Given the description of an element on the screen output the (x, y) to click on. 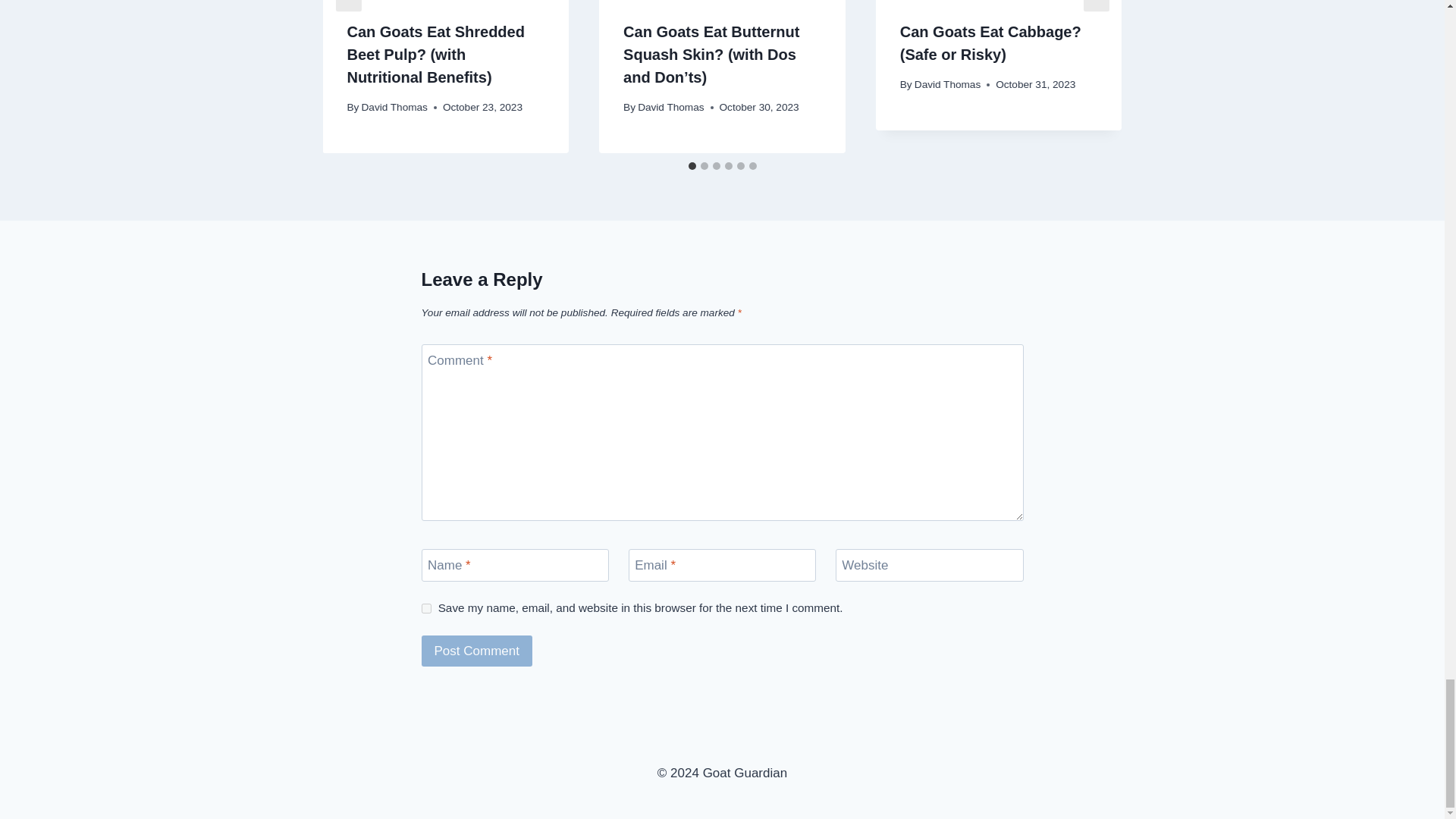
Post Comment (477, 650)
yes (426, 608)
